Given the description of an element on the screen output the (x, y) to click on. 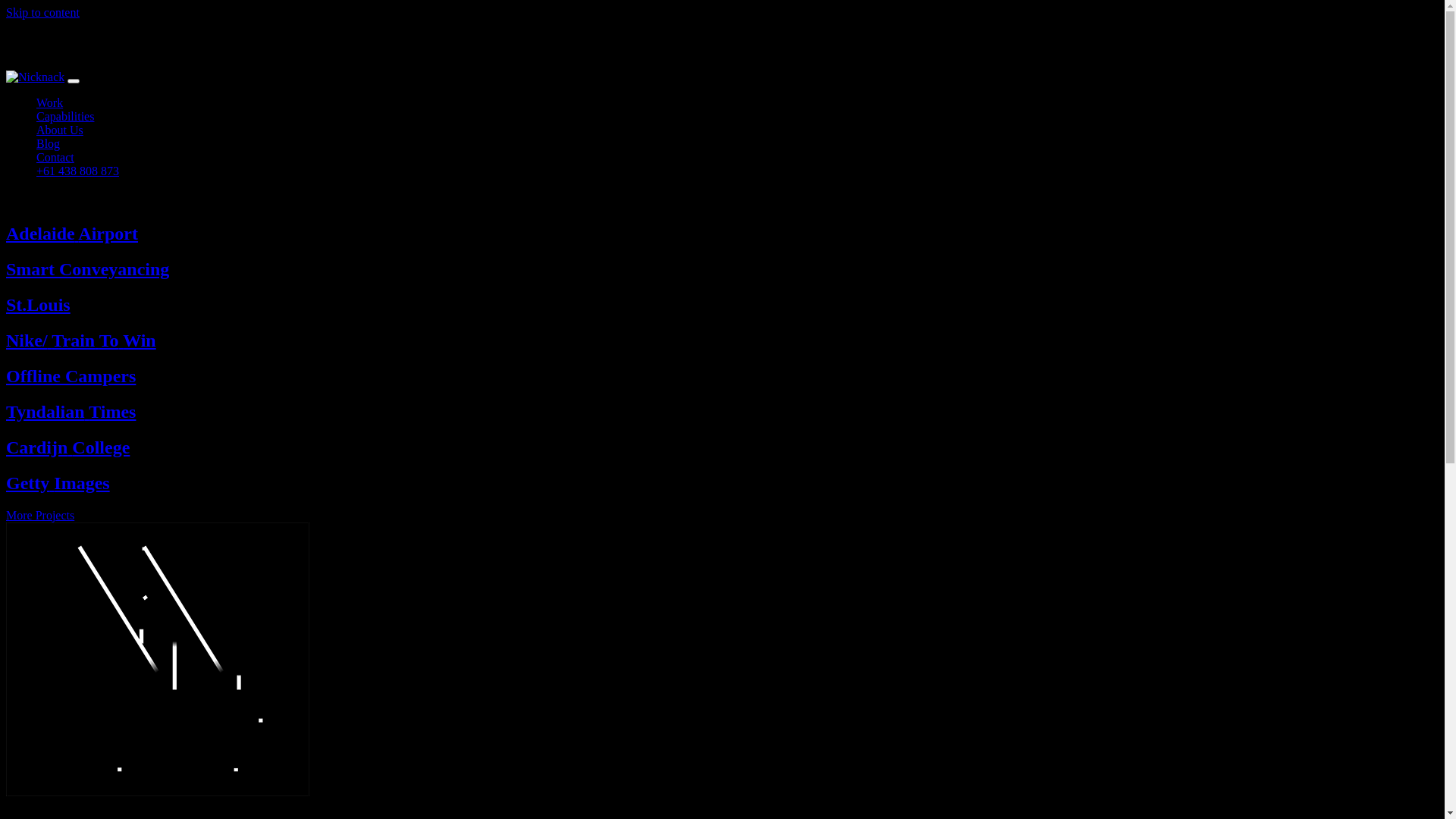
Contact Element type: text (55, 156)
Getty Images Element type: text (57, 482)
Smart Conveyancing Element type: text (87, 269)
St.Louis Element type: text (38, 304)
About Us Element type: text (59, 129)
Capabilities Element type: text (65, 115)
More Projects Element type: text (40, 514)
Offline Campers Element type: text (70, 375)
Cardijn College Element type: text (67, 447)
Adelaide Airport Element type: text (72, 233)
Nike/ Train To Win Element type: text (81, 340)
+61 438 808 873 Element type: text (77, 170)
Blog Element type: text (47, 143)
Tyndalian Times Element type: text (70, 411)
Skip to content Element type: text (42, 12)
Work Element type: text (49, 102)
